Given the description of an element on the screen output the (x, y) to click on. 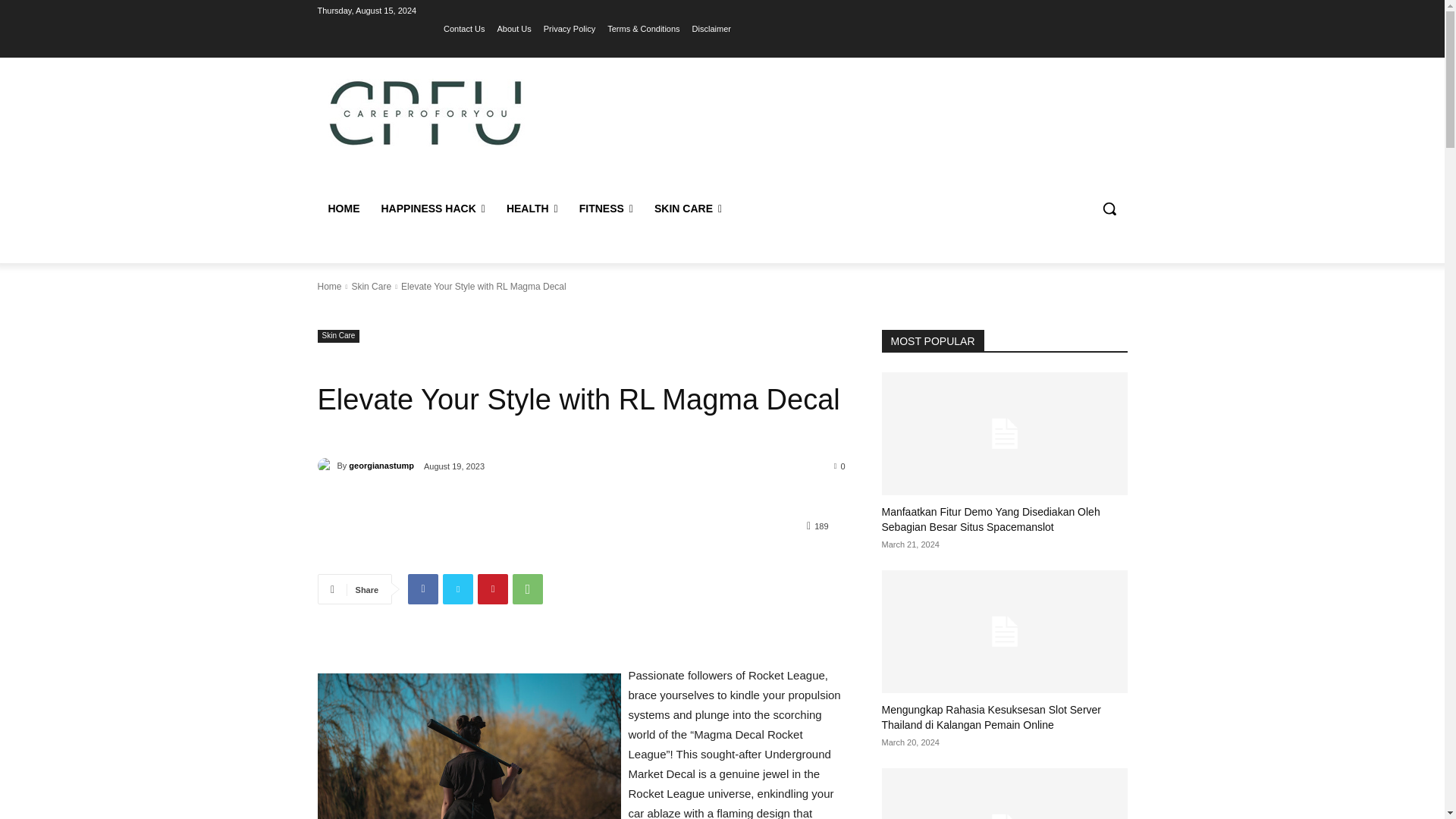
HAPPINESS HACK (432, 208)
HOME (343, 208)
HEALTH (532, 208)
Contact Us (464, 28)
Disclaimer (711, 28)
Privacy Policy (569, 28)
About Us (513, 28)
